Given the description of an element on the screen output the (x, y) to click on. 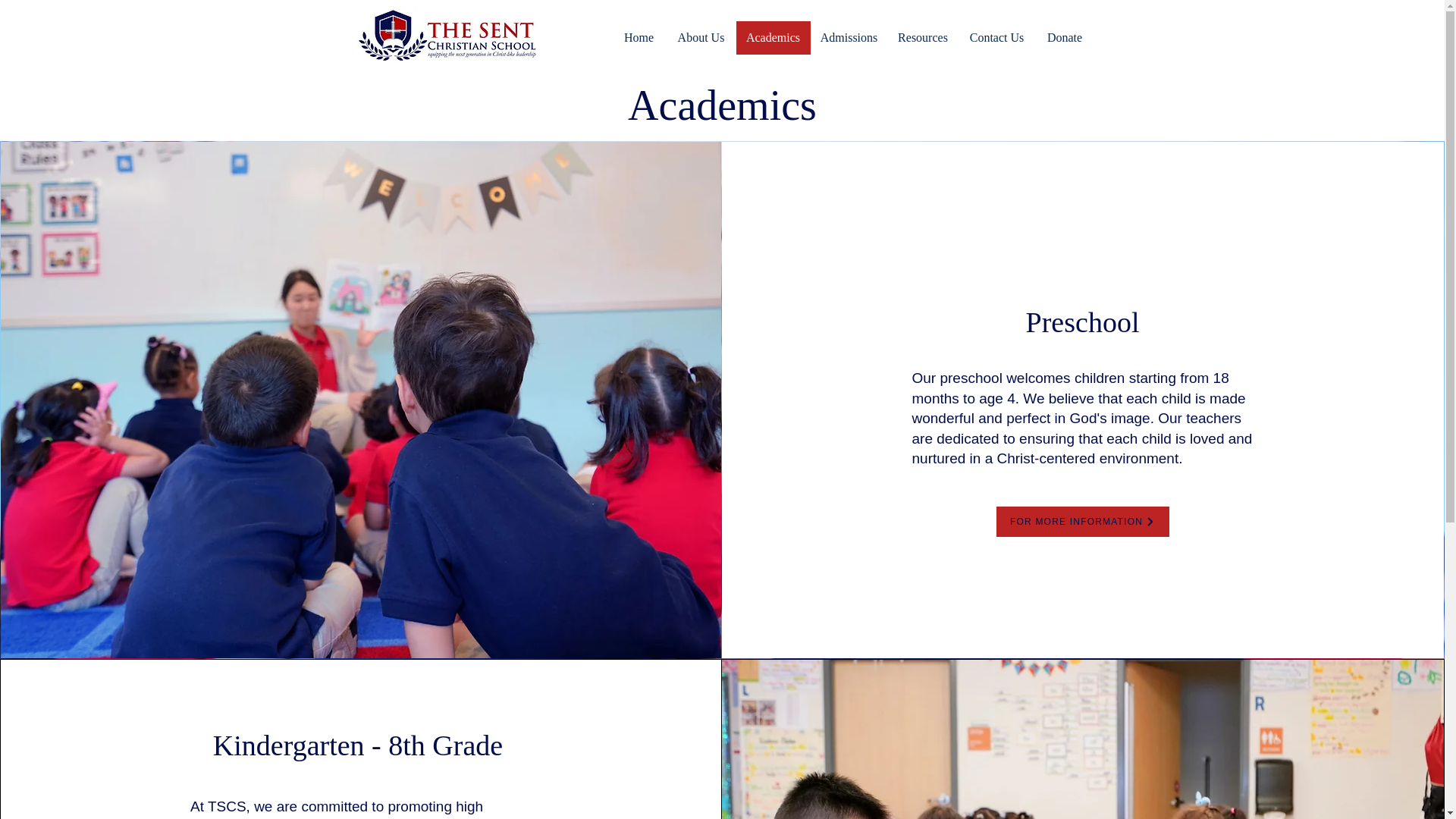
Contact Us (996, 37)
FOR MORE INFORMATION (1082, 521)
Donate (1064, 37)
Academics (772, 37)
Resources (922, 37)
Home (638, 37)
About Us (700, 37)
Admissions (847, 37)
